Given the description of an element on the screen output the (x, y) to click on. 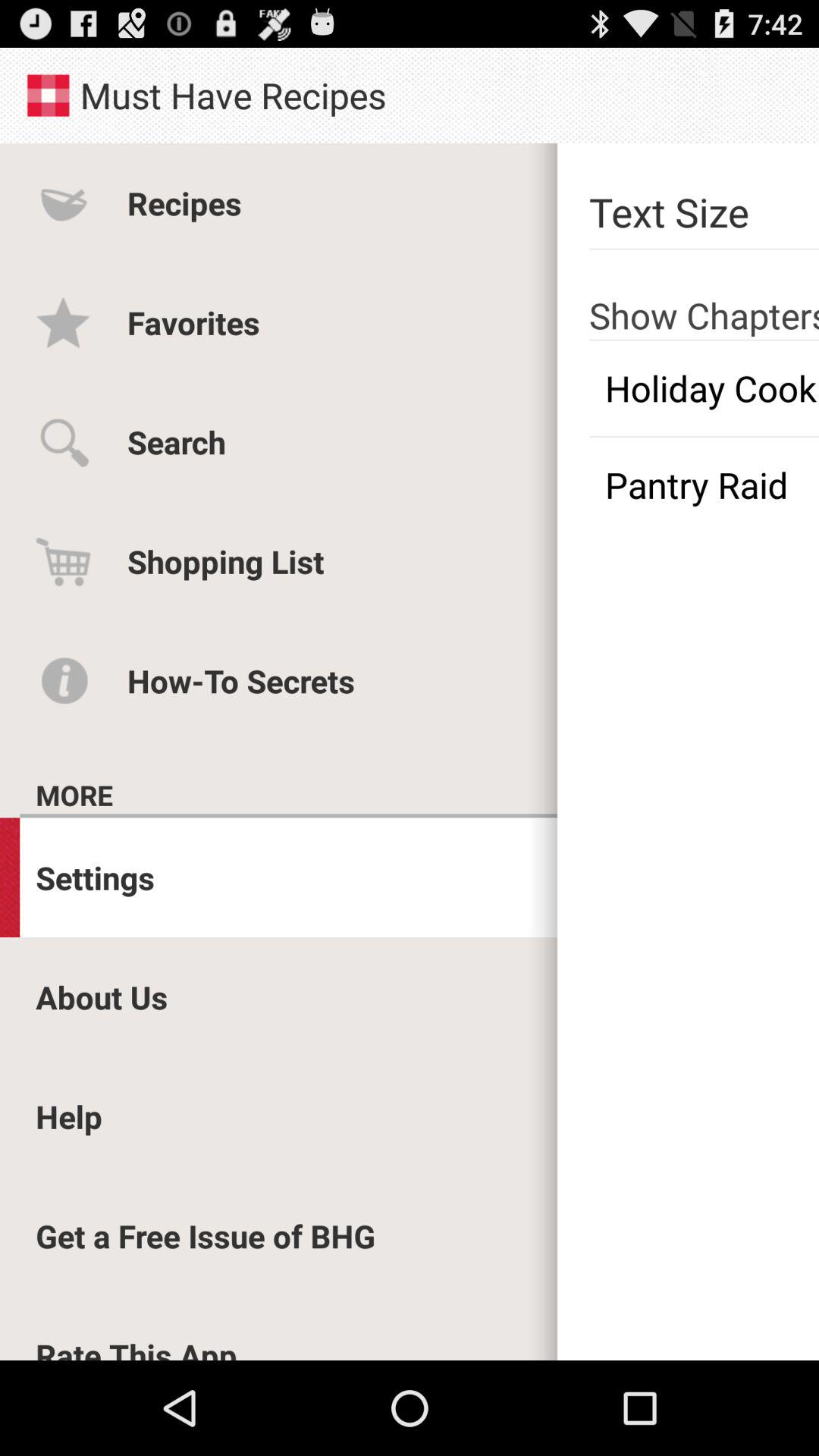
select settings (94, 877)
